Given the description of an element on the screen output the (x, y) to click on. 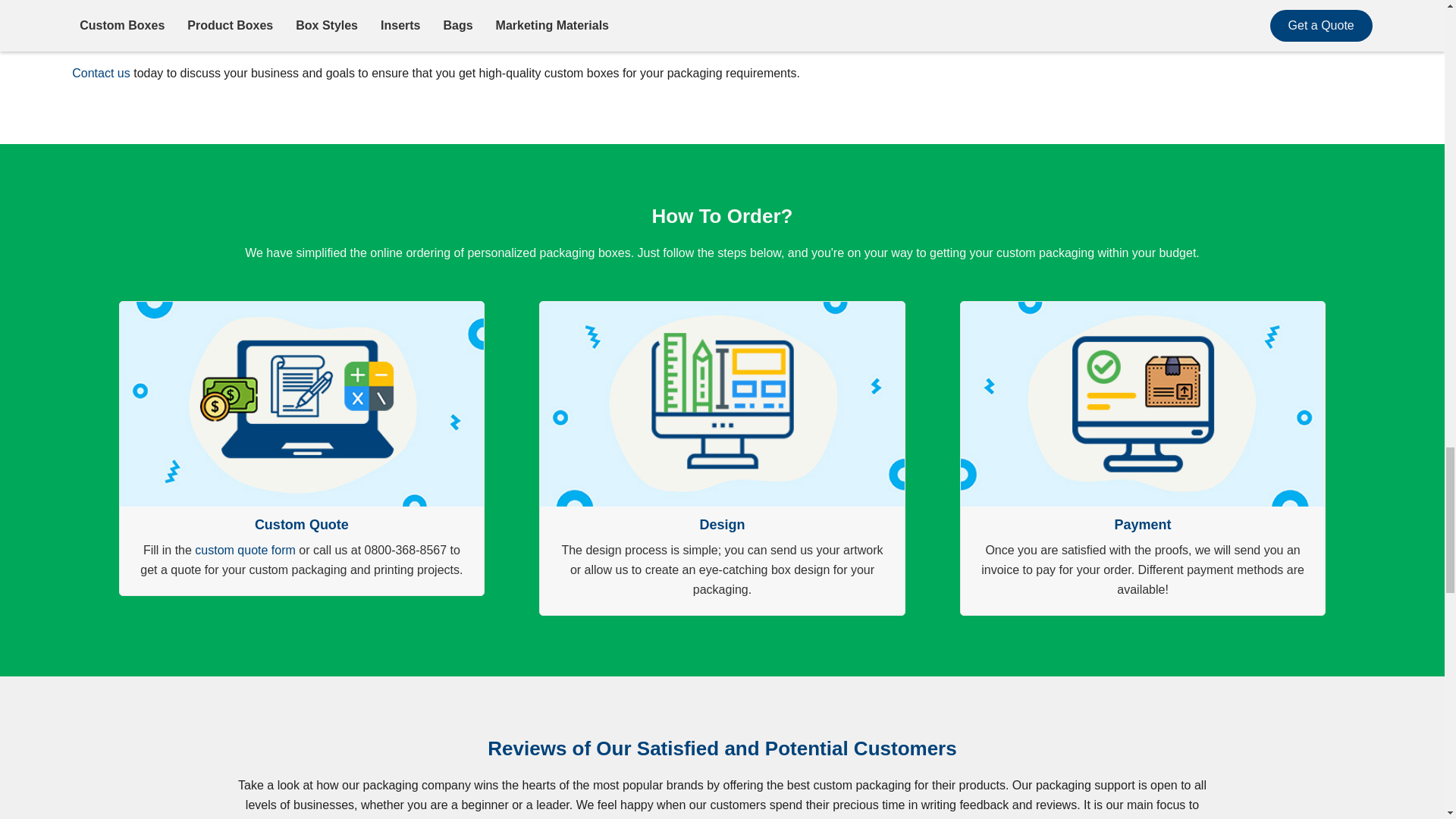
custom quote form (245, 549)
PackagingPrinting (1223, 38)
Contact us (100, 72)
